Given the description of an element on the screen output the (x, y) to click on. 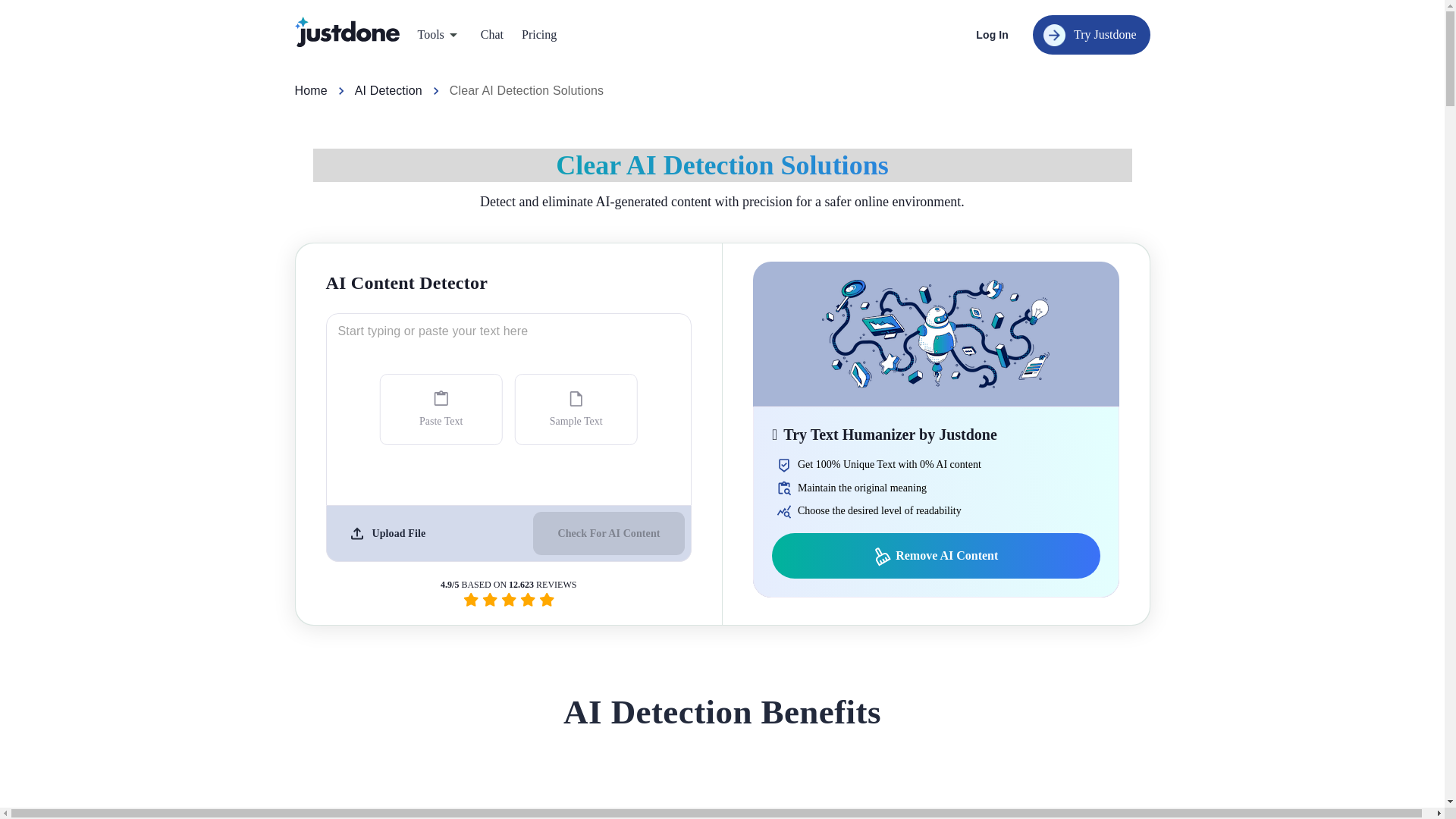
AI Academic Writing (533, 81)
AI Blog Generator (355, 79)
See All (721, 87)
AI Detection (388, 90)
AI Writing Tools (857, 81)
AI Essay Writer (533, 79)
AI Competitor Analysis (703, 79)
Log In (992, 34)
Try Justdone (1091, 34)
AI Marketing (703, 81)
Home (310, 90)
Paste Text (441, 409)
Chat (491, 34)
Pricing (538, 34)
AI Story Writer (857, 79)
